Given the description of an element on the screen output the (x, y) to click on. 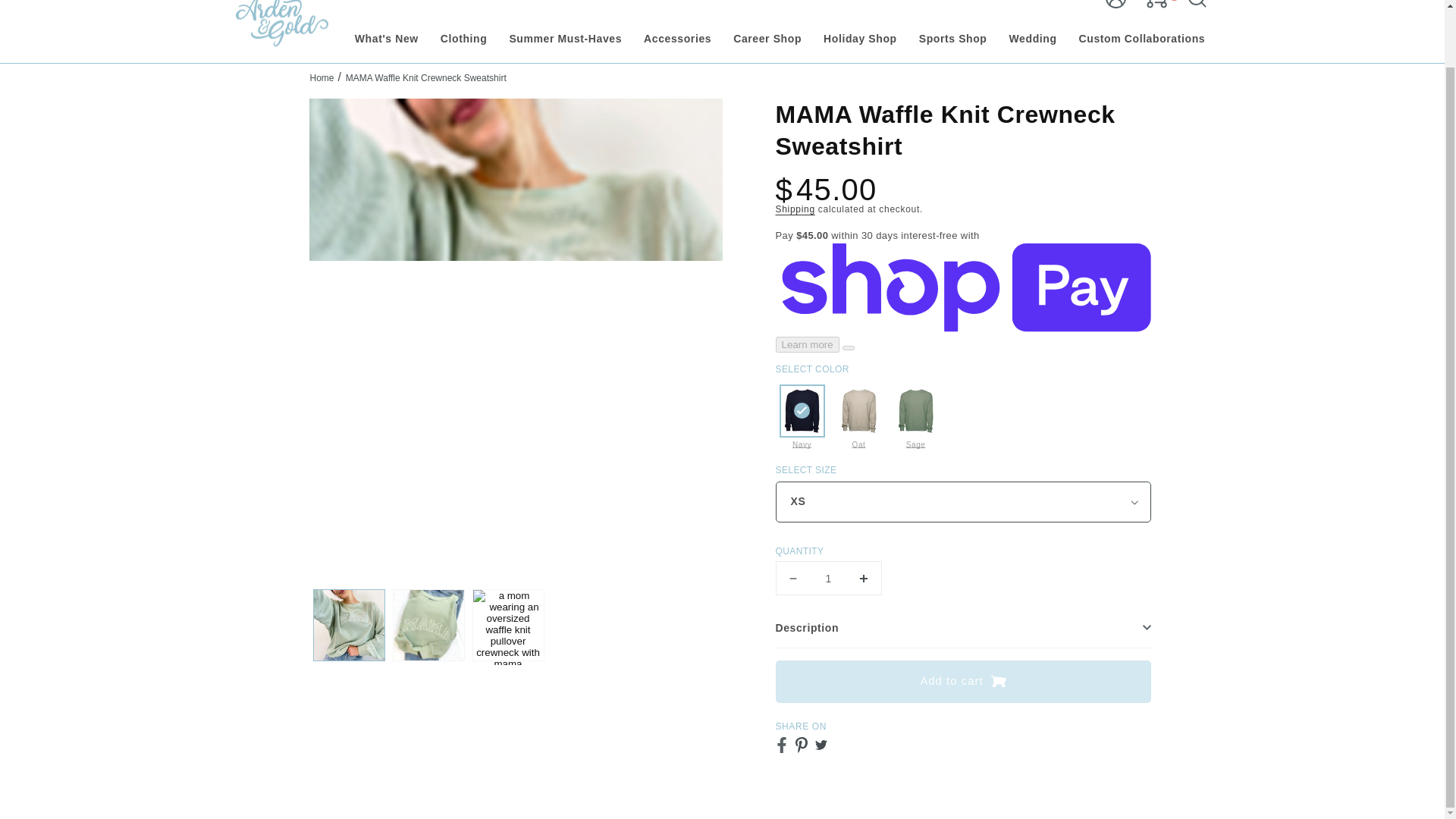
1 (827, 577)
